Given the description of an element on the screen output the (x, y) to click on. 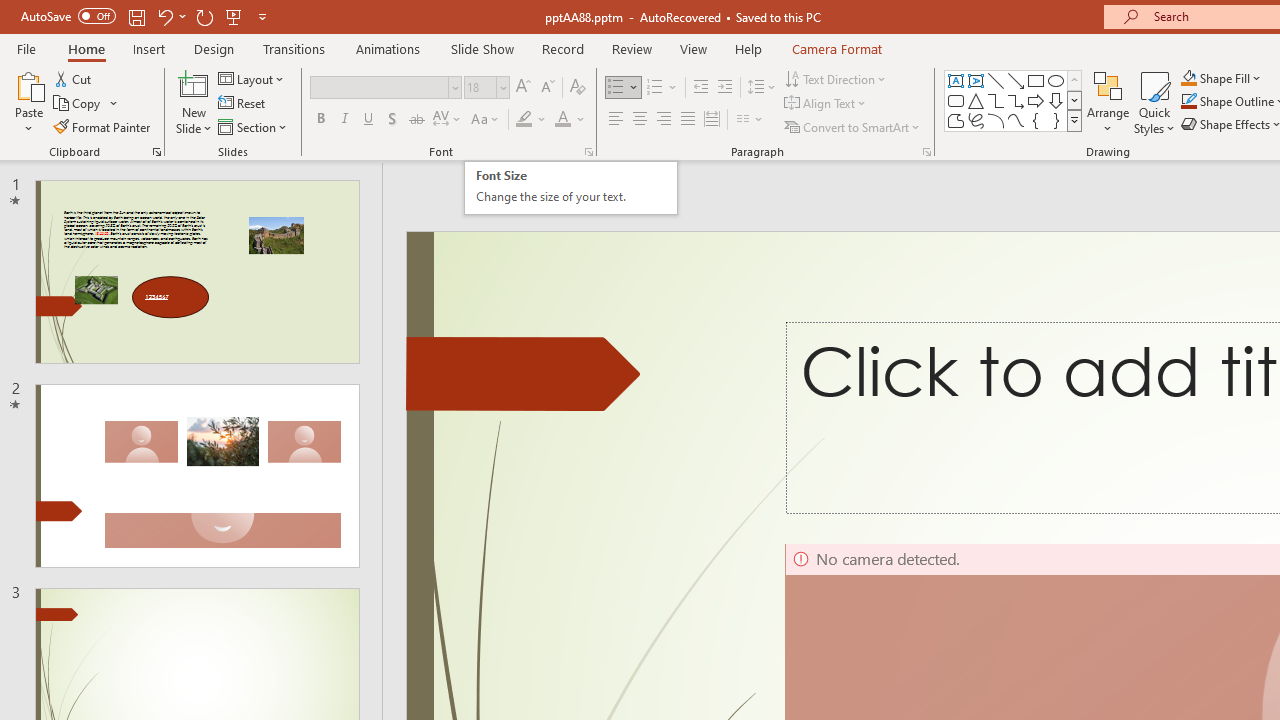
Shape Outline Teal, Accent 1 (1188, 101)
